Given the description of an element on the screen output the (x, y) to click on. 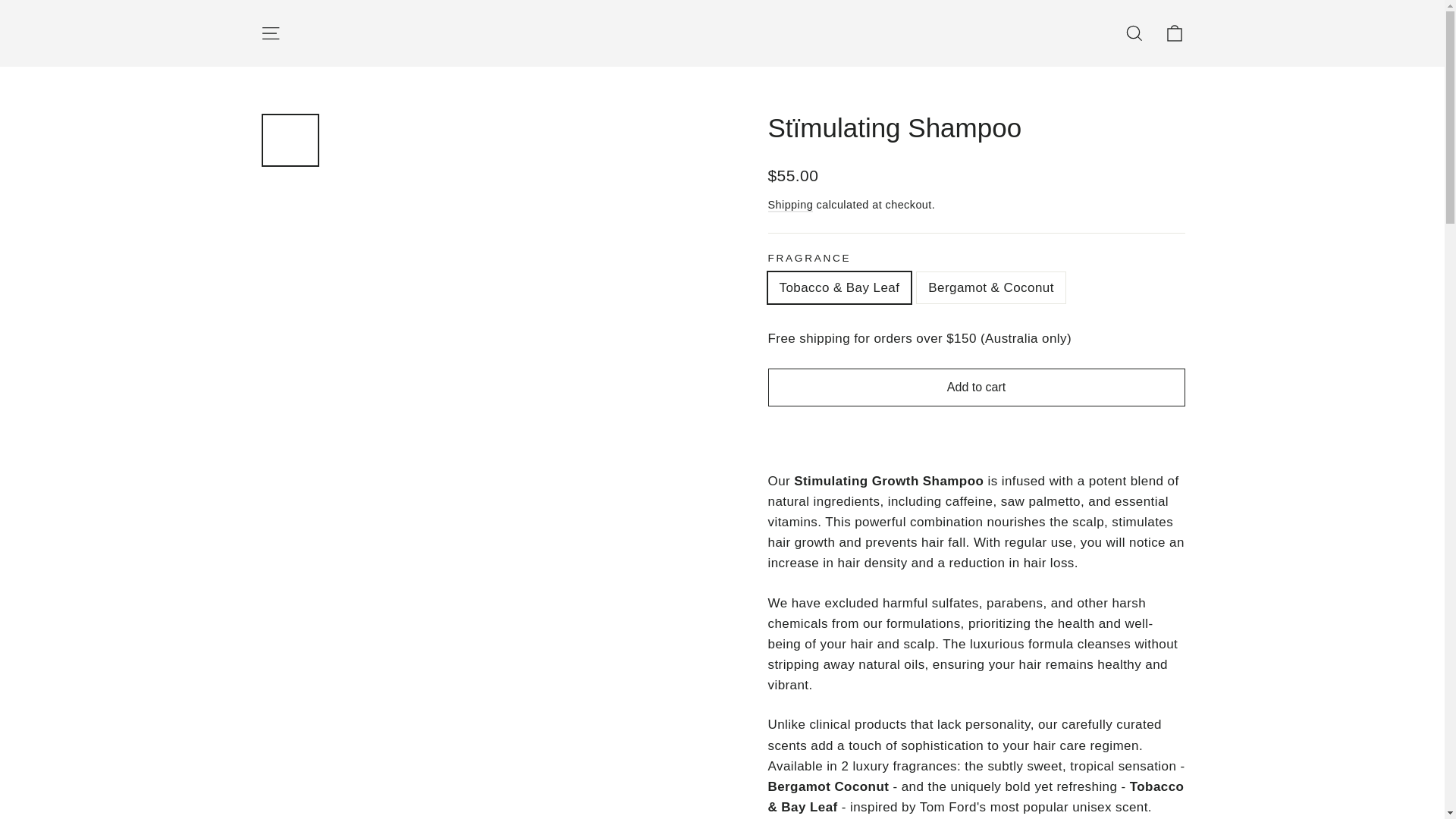
Search (1134, 33)
Cart (1173, 33)
Shipping (789, 205)
Add to cart (976, 387)
Site navigation (269, 33)
